Given the description of an element on the screen output the (x, y) to click on. 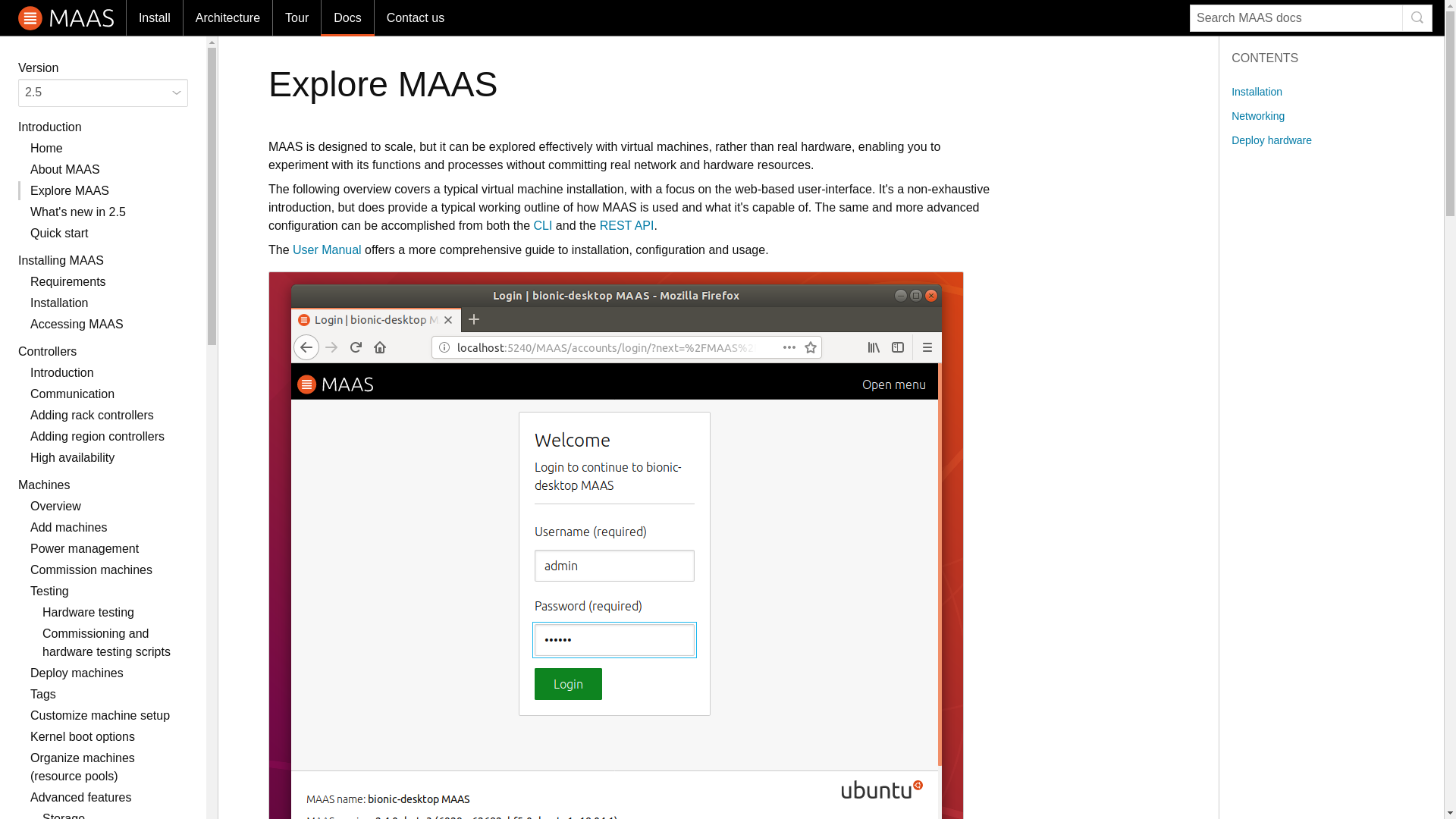
Install (154, 18)
Installation (59, 302)
Storage (63, 815)
Tour (296, 18)
What's new in 2.5 (77, 211)
Power management (84, 548)
Tags (43, 694)
Explore MAAS (69, 190)
Kernel boot options (82, 736)
Overview (55, 505)
